Given the description of an element on the screen output the (x, y) to click on. 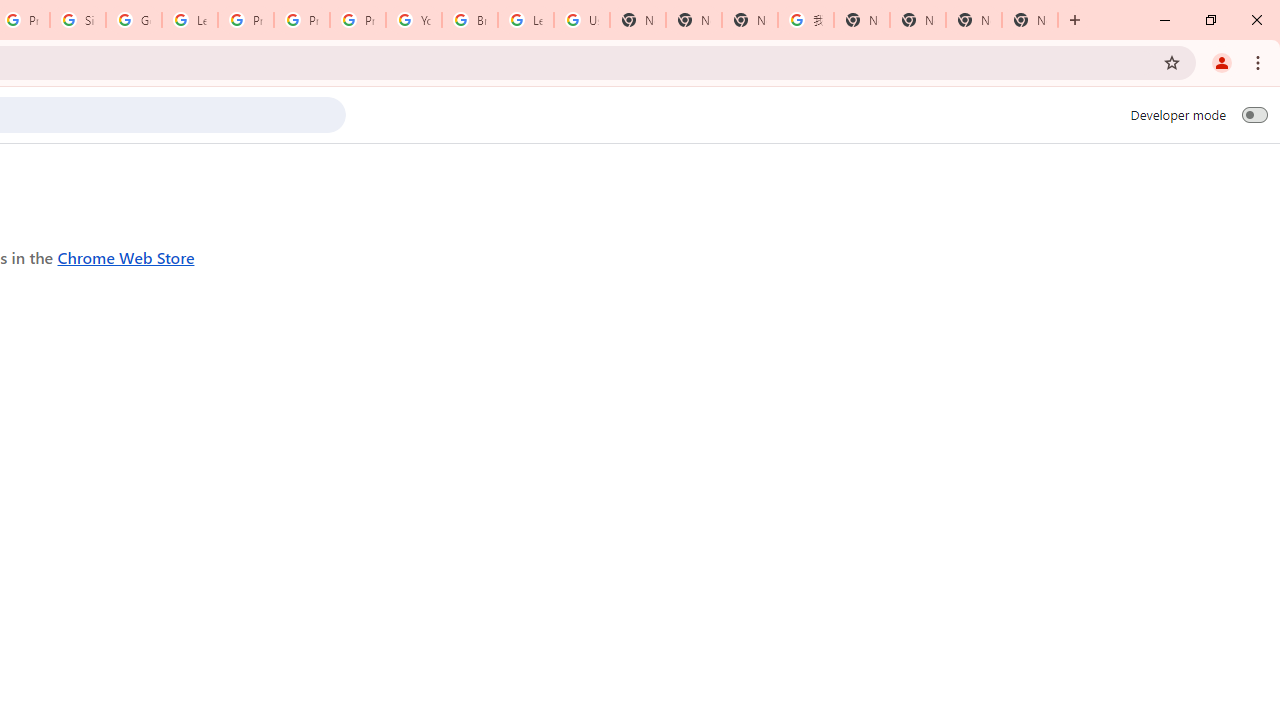
Chrome Web Store (125, 256)
New Tab (1030, 20)
Sign in - Google Accounts (77, 20)
Privacy Help Center - Policies Help (245, 20)
Browse Chrome as a guest - Computer - Google Chrome Help (469, 20)
Privacy Help Center - Policies Help (301, 20)
